Given the description of an element on the screen output the (x, y) to click on. 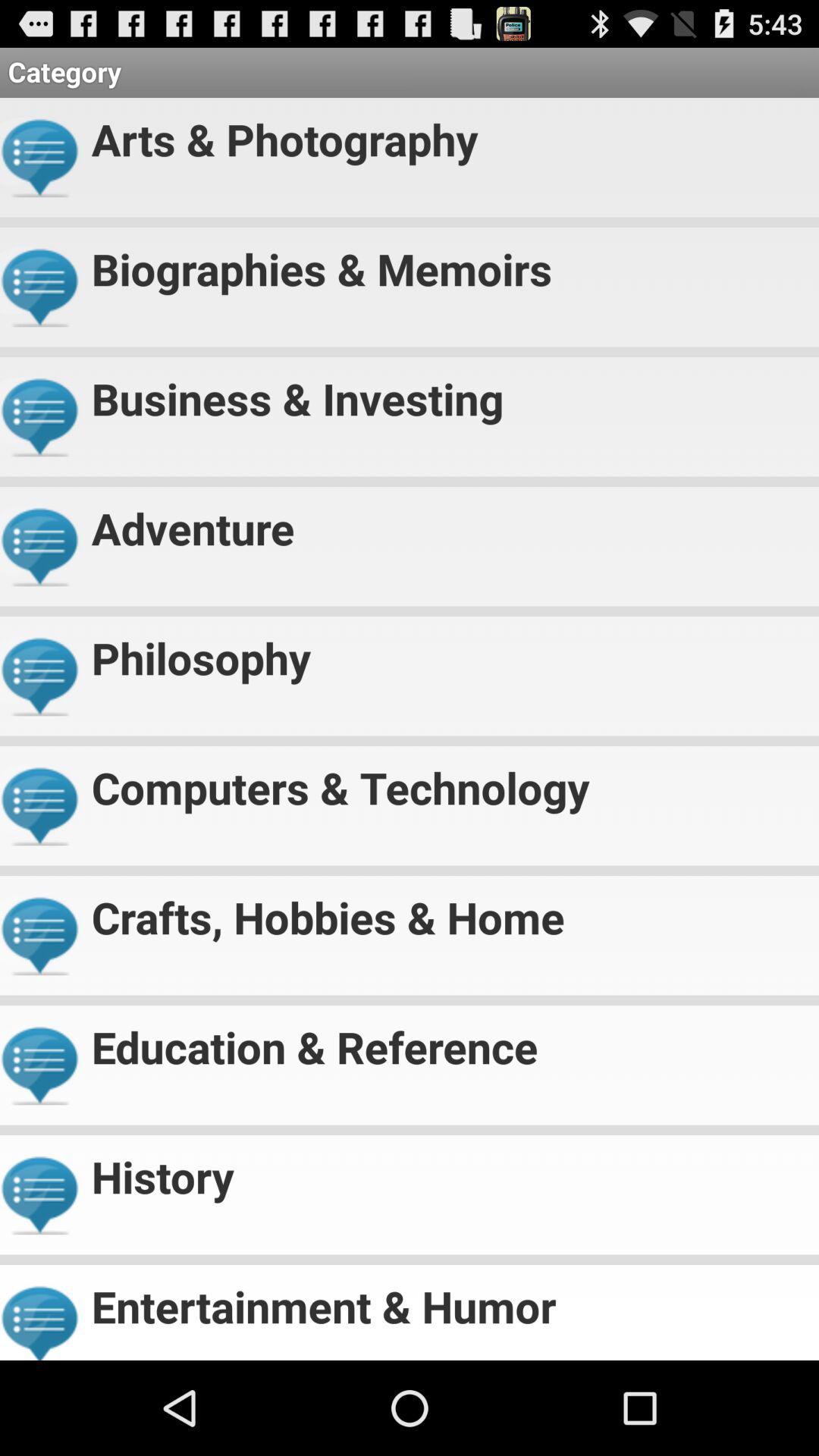
select arts & photography  item (449, 132)
